Given the description of an element on the screen output the (x, y) to click on. 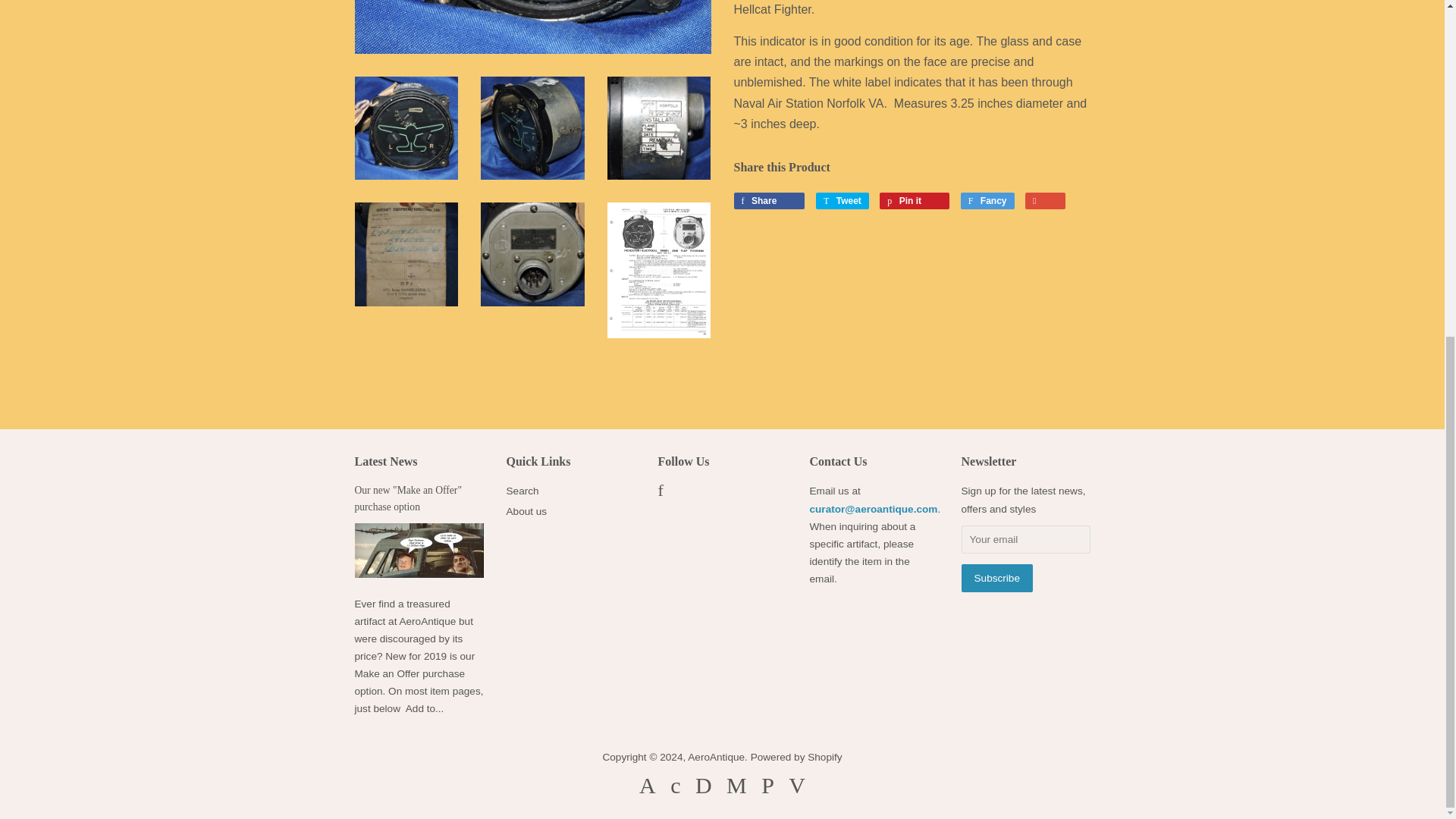
Subscribe (996, 578)
